Given the description of an element on the screen output the (x, y) to click on. 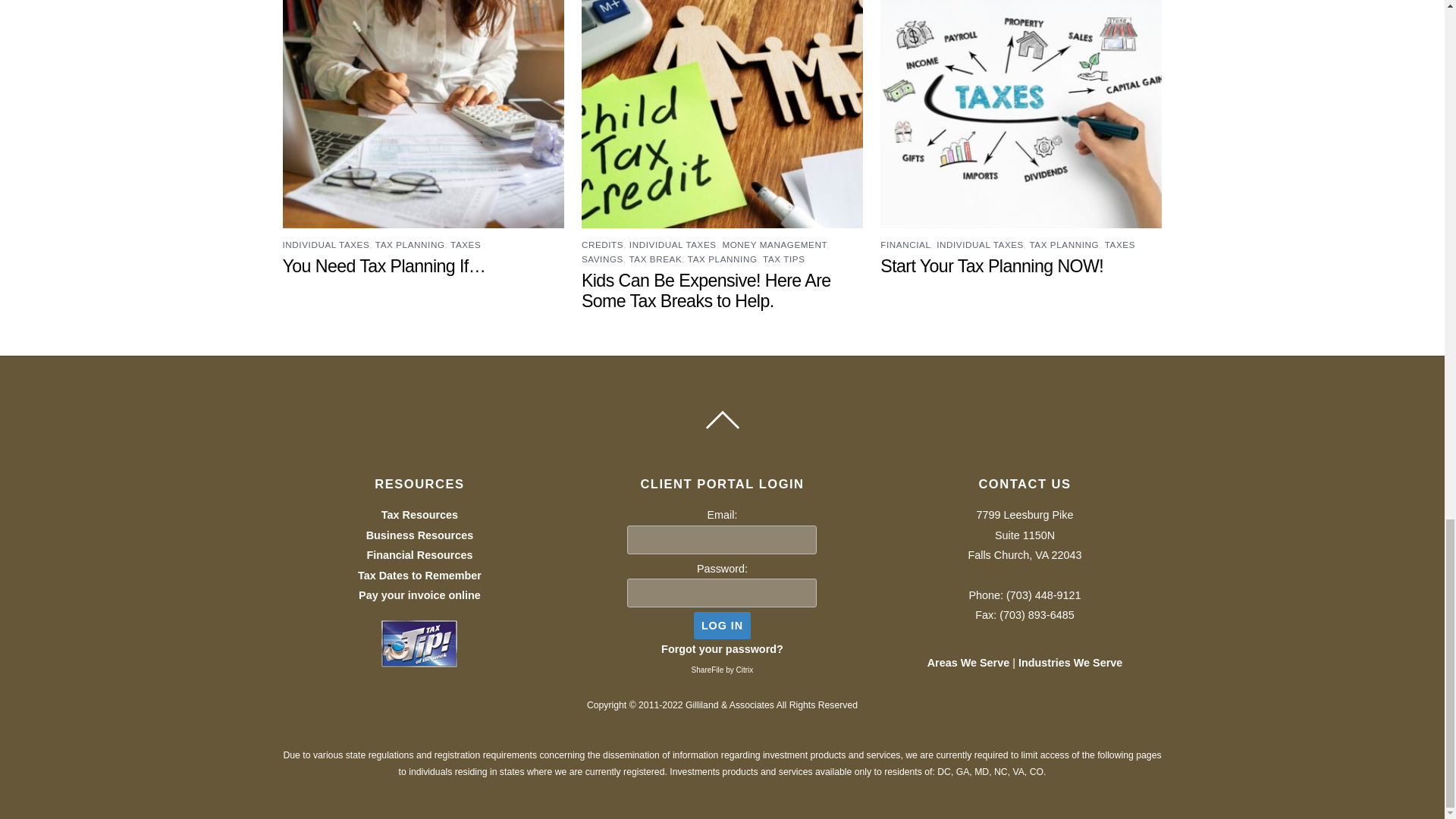
Kids Can Be Expensive! Here Are Some Tax Breaks to Help. (705, 291)
Start Your Tax Planning NOW! (991, 266)
Log In (722, 625)
